Given the description of an element on the screen output the (x, y) to click on. 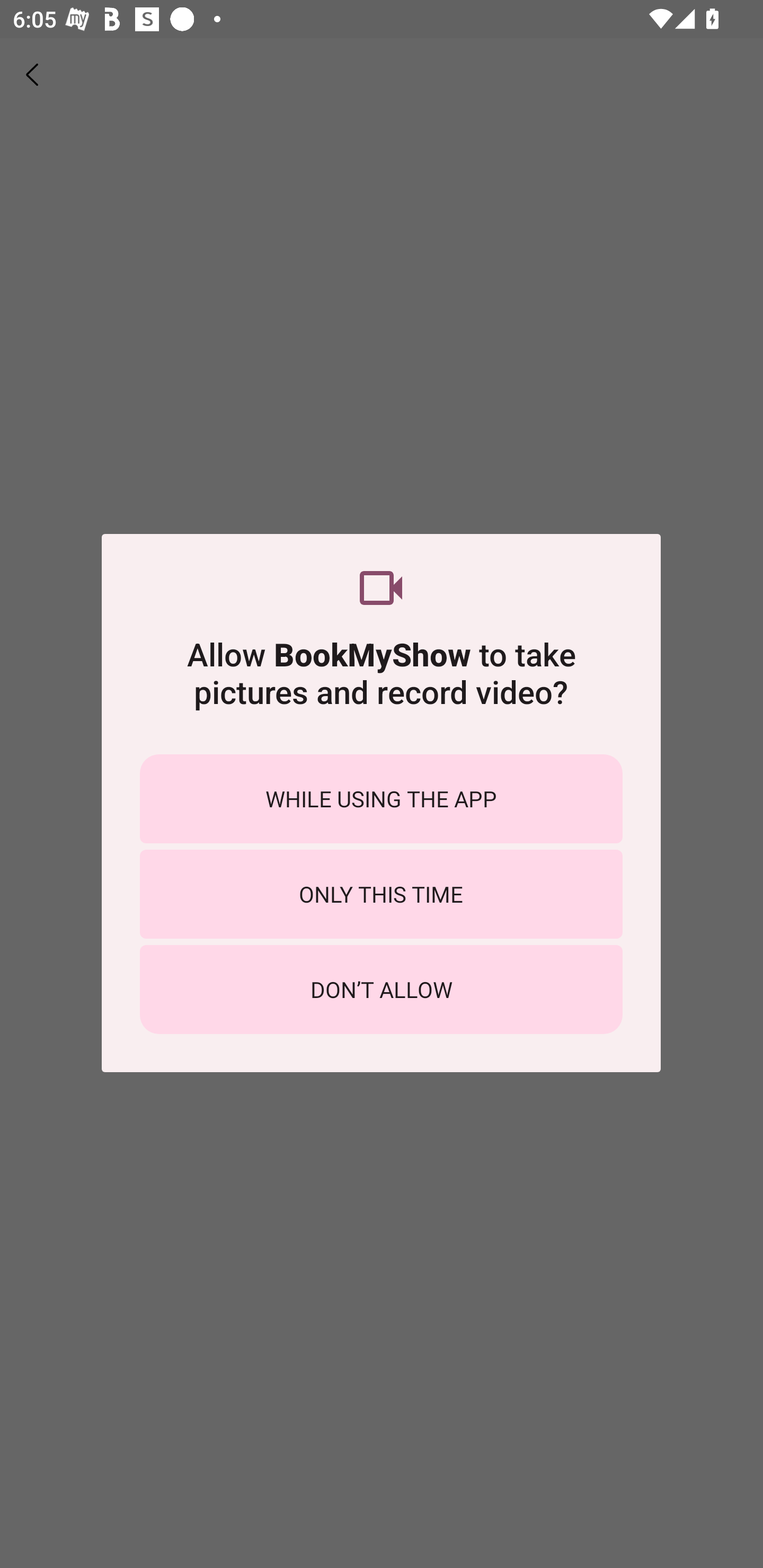
WHILE USING THE APP (380, 798)
ONLY THIS TIME (380, 894)
DON’T ALLOW (380, 989)
